Given the description of an element on the screen output the (x, y) to click on. 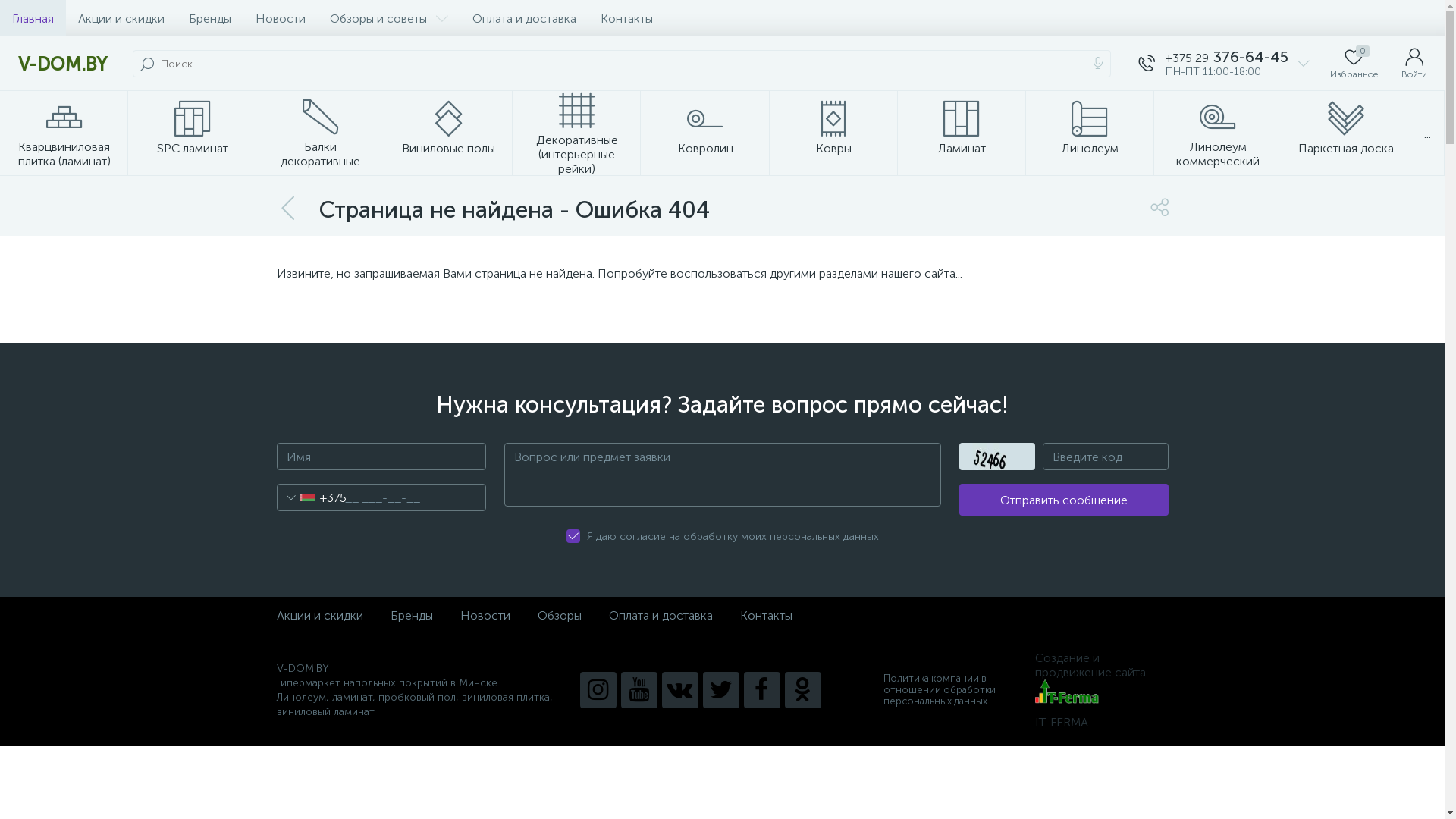
YouTube Element type: hover (638, 689)
logo_fix.png Element type: hover (1066, 691)
... Element type: text (1427, 133)
Twitter Element type: hover (720, 689)
Instagram Element type: hover (597, 689)
V-DOM.BY Element type: text (62, 63)
Facebook Element type: hover (761, 689)
